Given the description of an element on the screen output the (x, y) to click on. 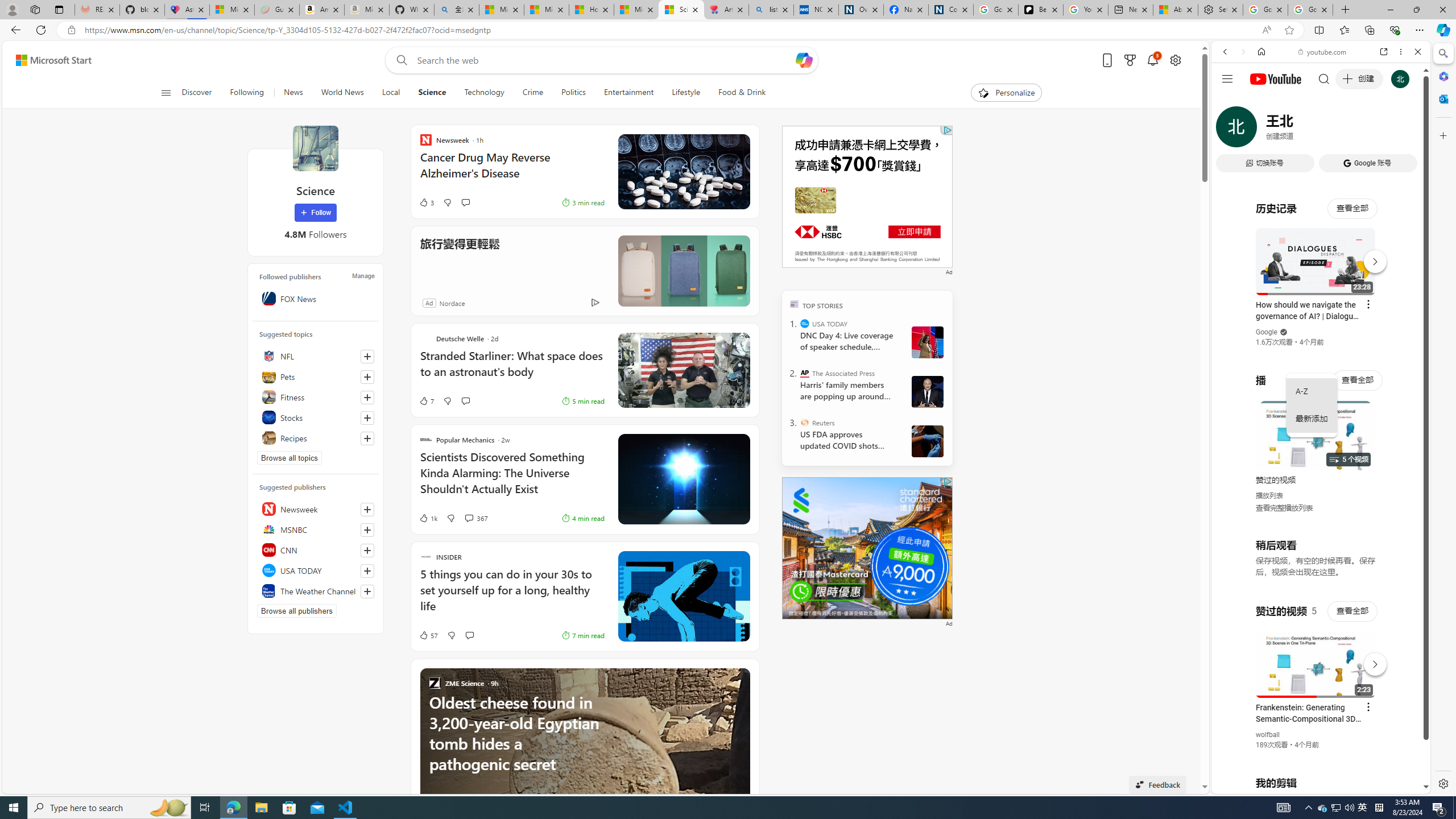
Google (1320, 281)
A-Z (1311, 391)
Browse all publishers (296, 610)
Lifestyle (685, 92)
Trailer #2 [HD] (1320, 336)
Search Filter, Search Tools (1350, 129)
you (1315, 755)
